Given the description of an element on the screen output the (x, y) to click on. 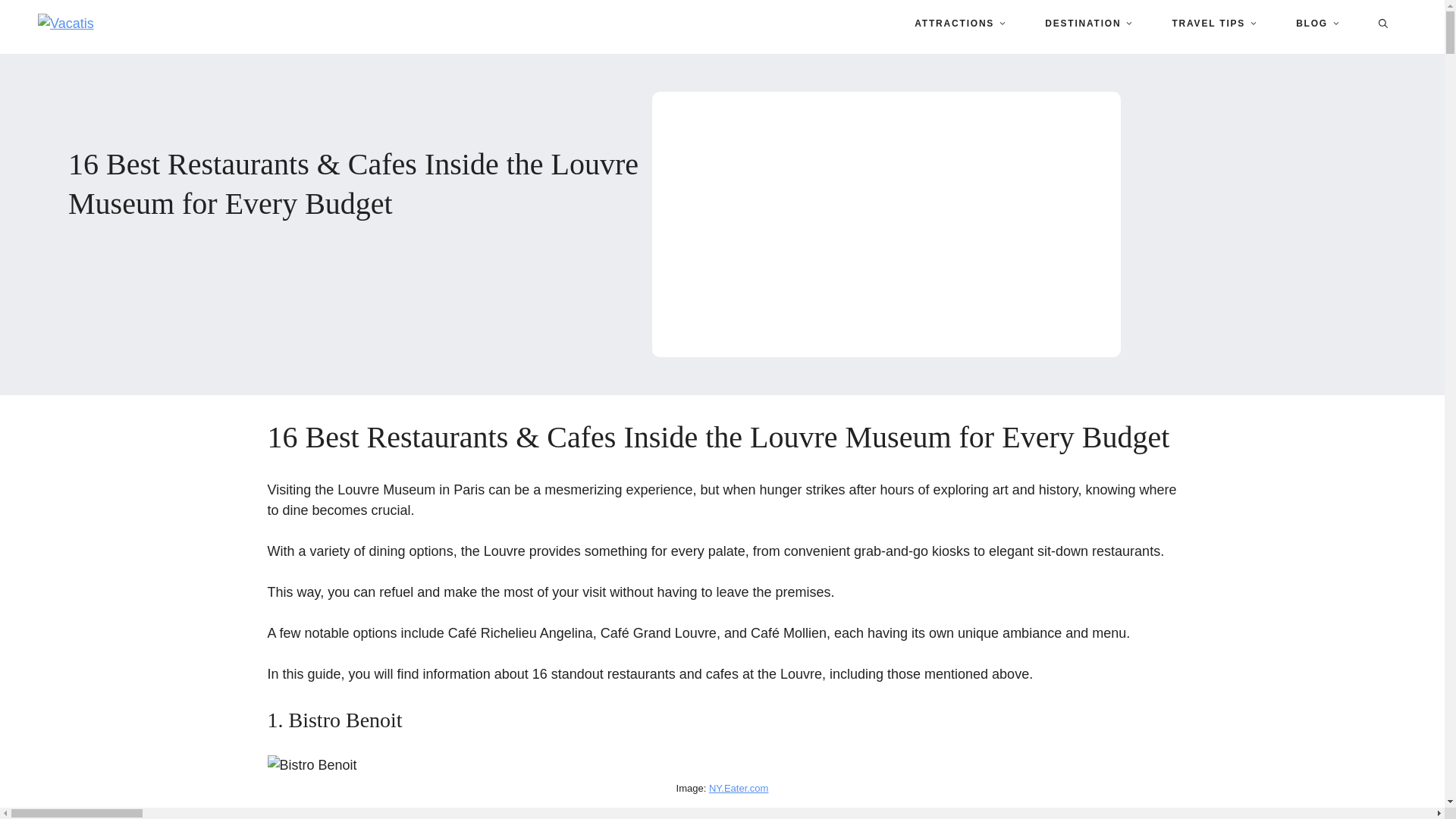
ATTRACTIONS (945, 22)
